Given the description of an element on the screen output the (x, y) to click on. 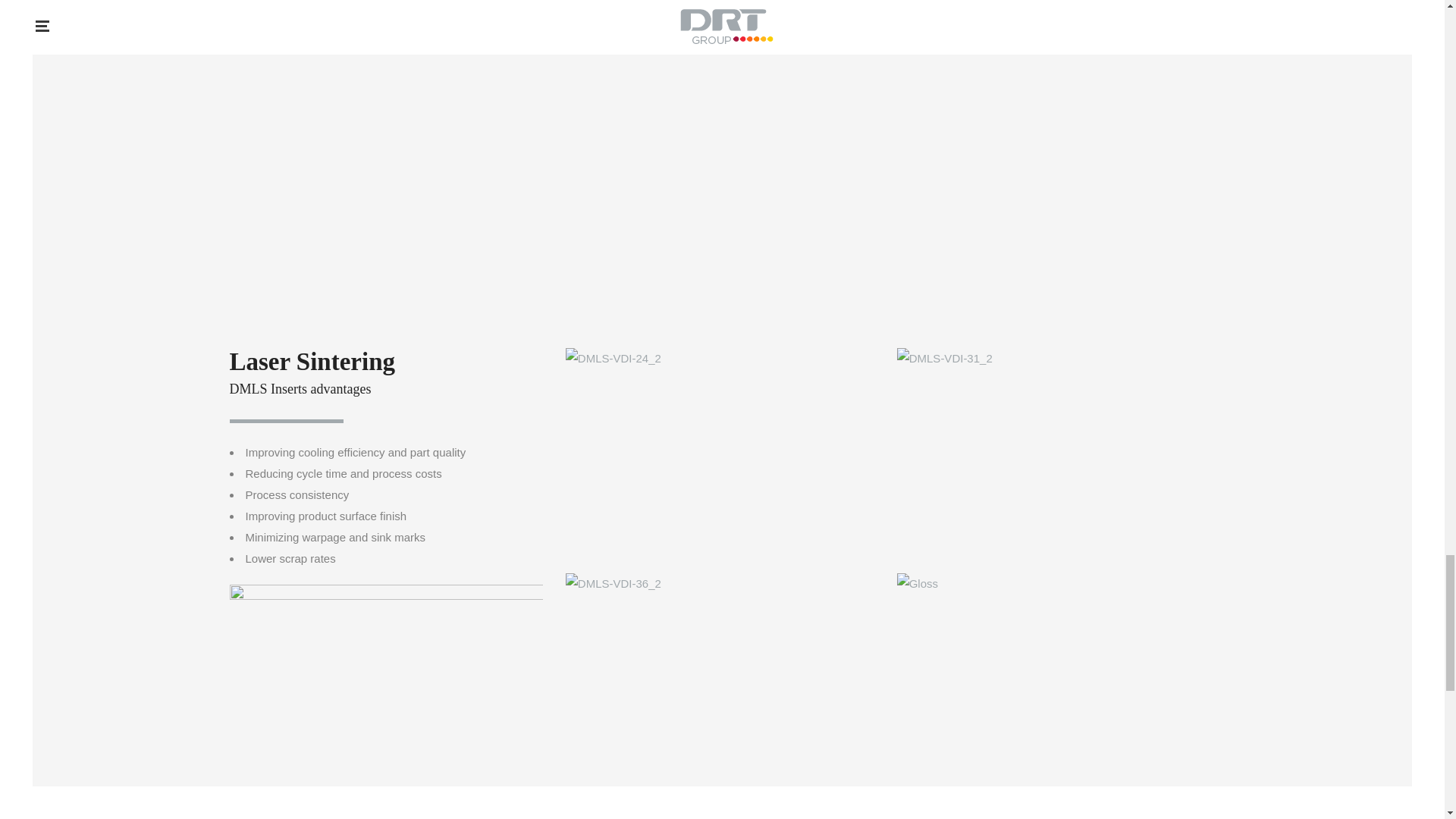
Gloss (1055, 679)
